Given the description of an element on the screen output the (x, y) to click on. 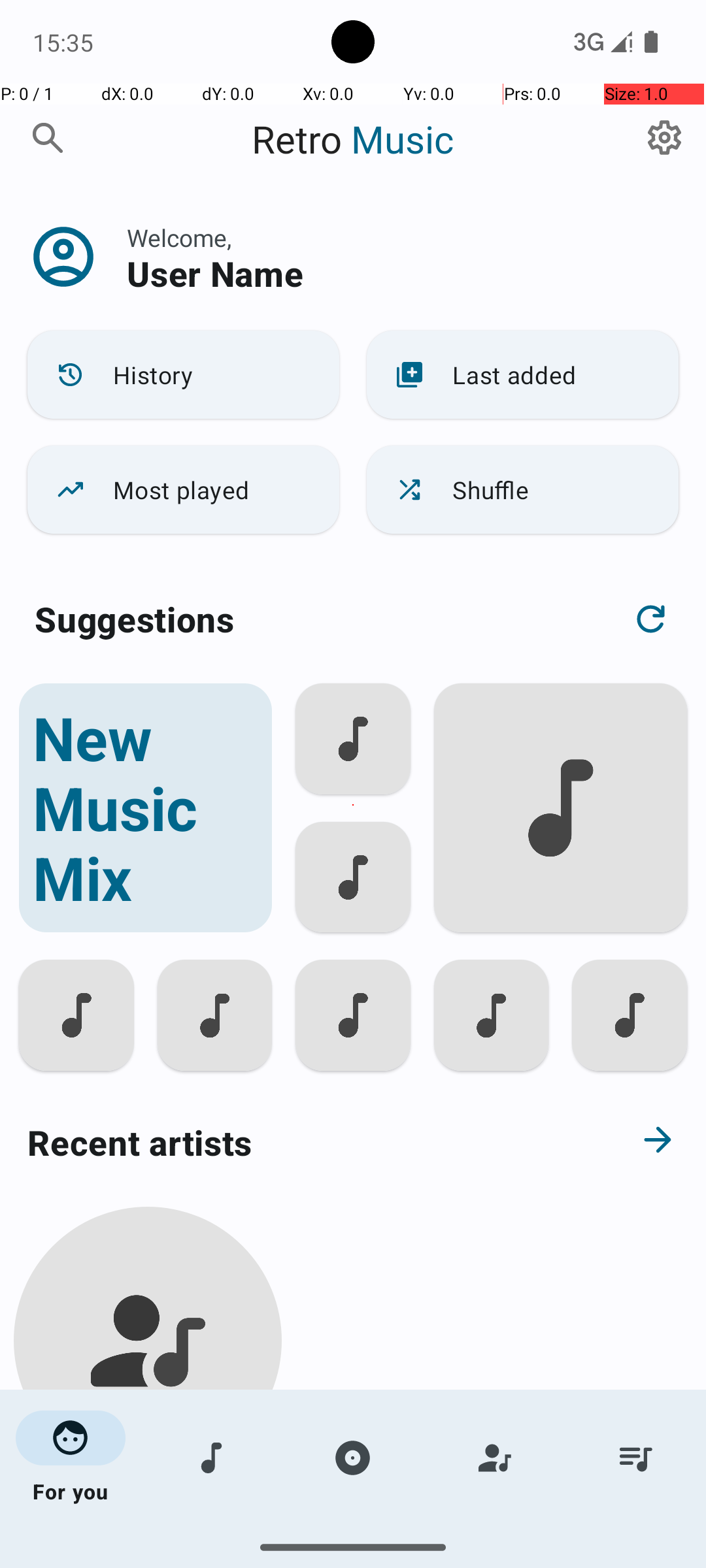
Arthur Element type: android.widget.TextView (147, 1503)
